Given the description of an element on the screen output the (x, y) to click on. 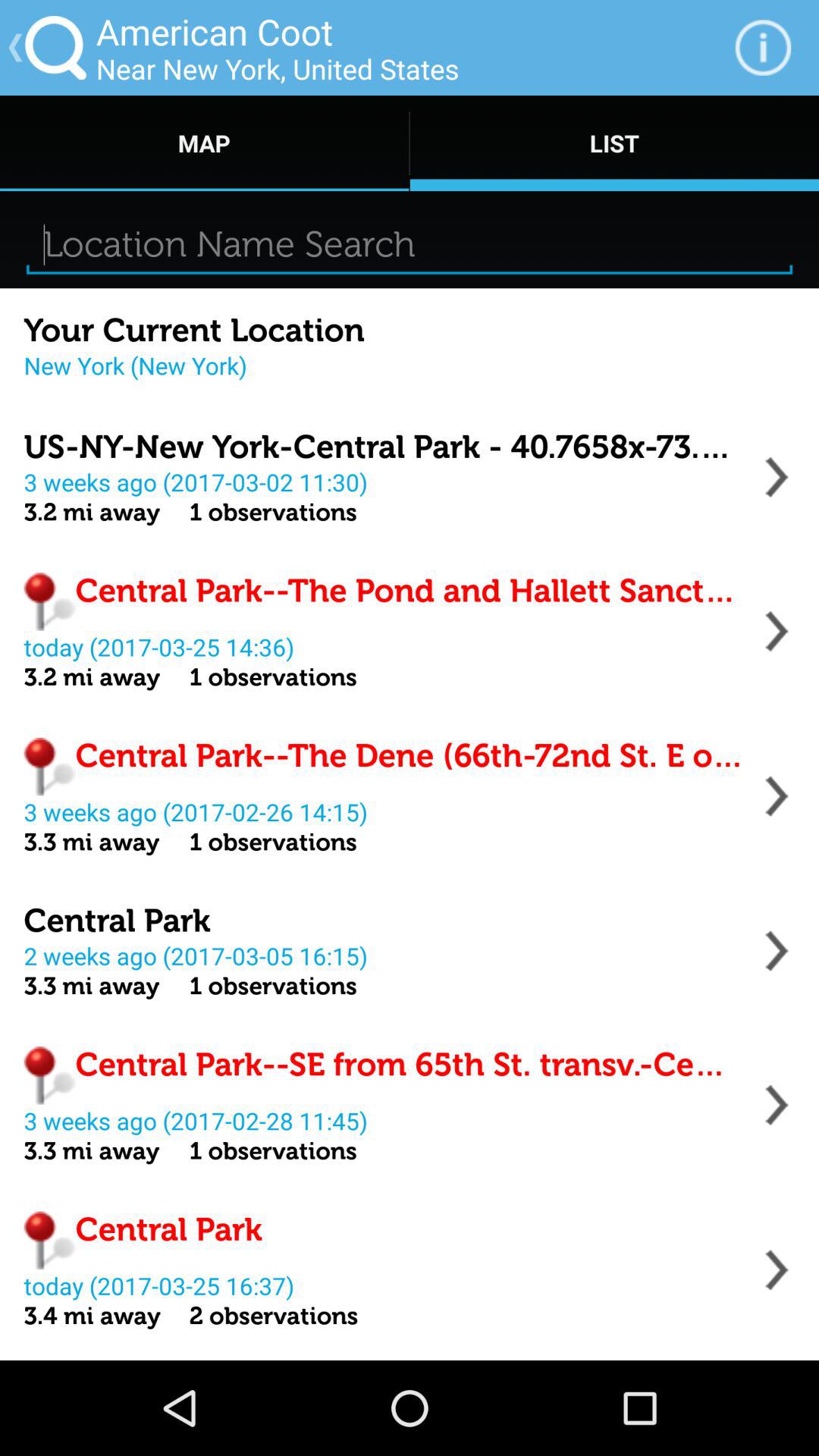
flip to us ny new icon (384, 446)
